Given the description of an element on the screen output the (x, y) to click on. 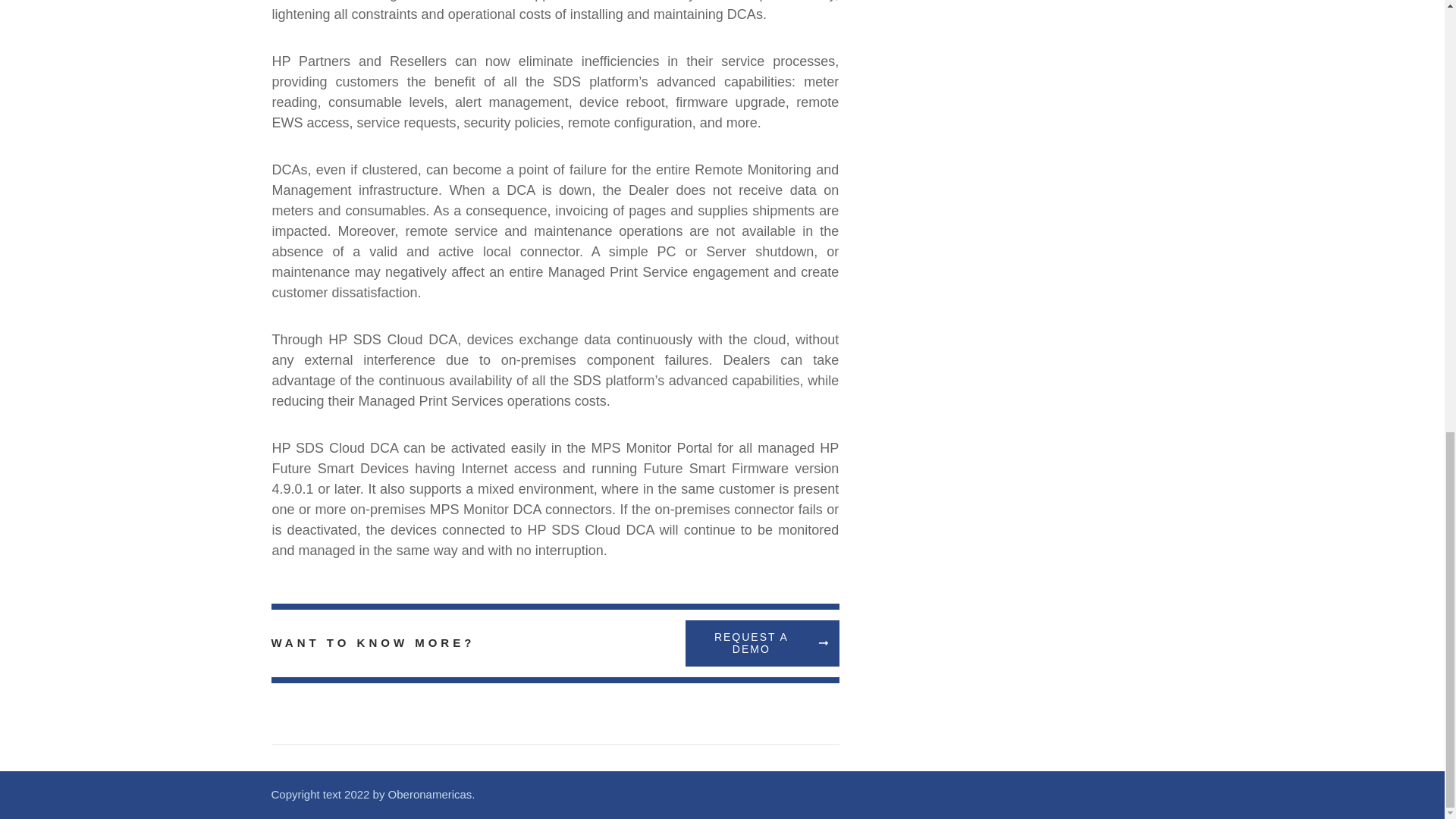
REQUEST A DEMO (762, 643)
